Given the description of an element on the screen output the (x, y) to click on. 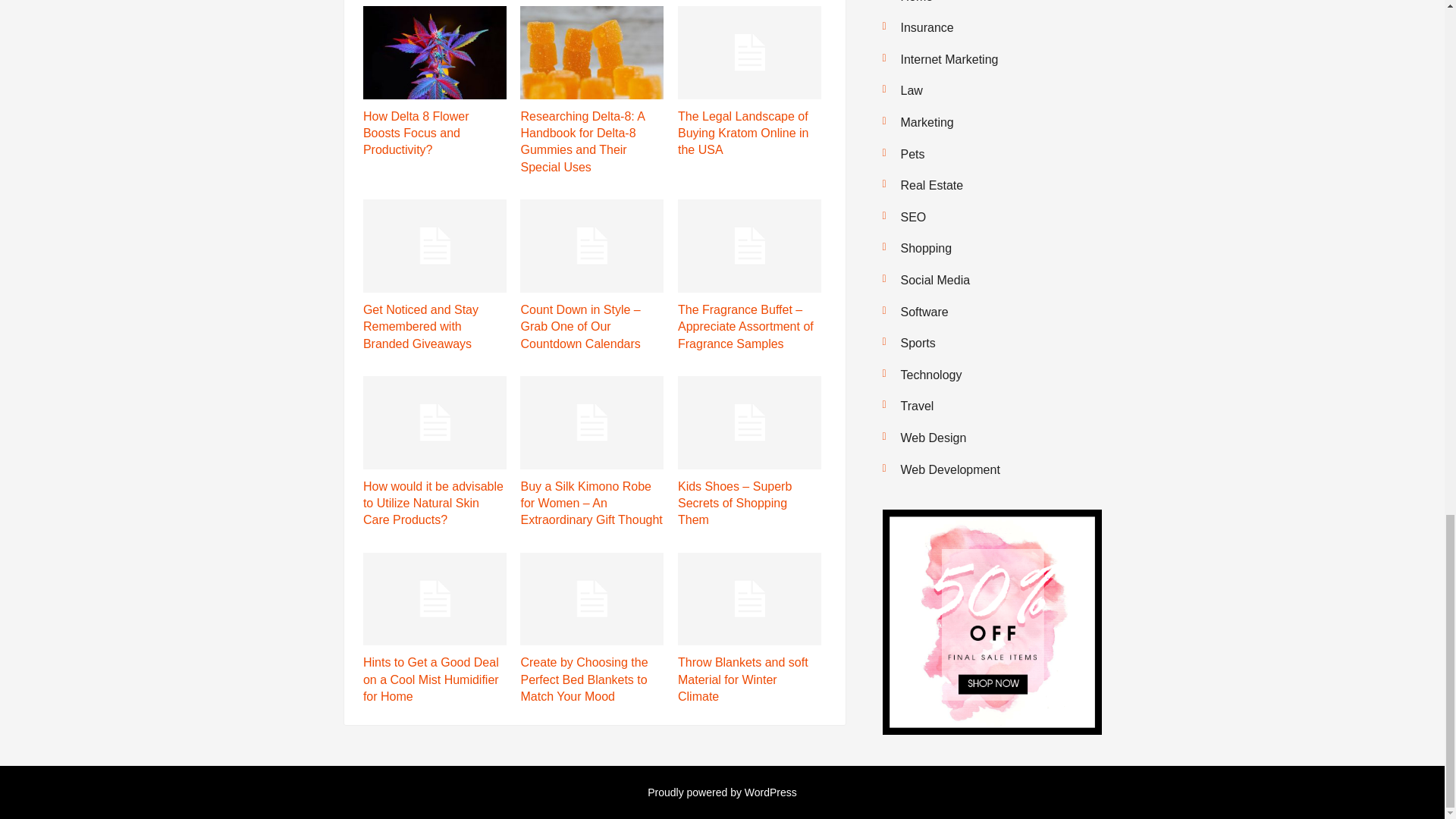
How Delta 8 Flower Boosts Focus and Productivity? (415, 133)
Throw Blankets and soft Material for Winter Climate (743, 679)
Hints to Get a Good Deal on a Cool Mist Humidifier for Home (430, 679)
The Legal Landscape of Buying Kratom Online in the USA (743, 133)
Get Noticed and Stay Remembered with Branded Giveaways (420, 326)
